Given the description of an element on the screen output the (x, y) to click on. 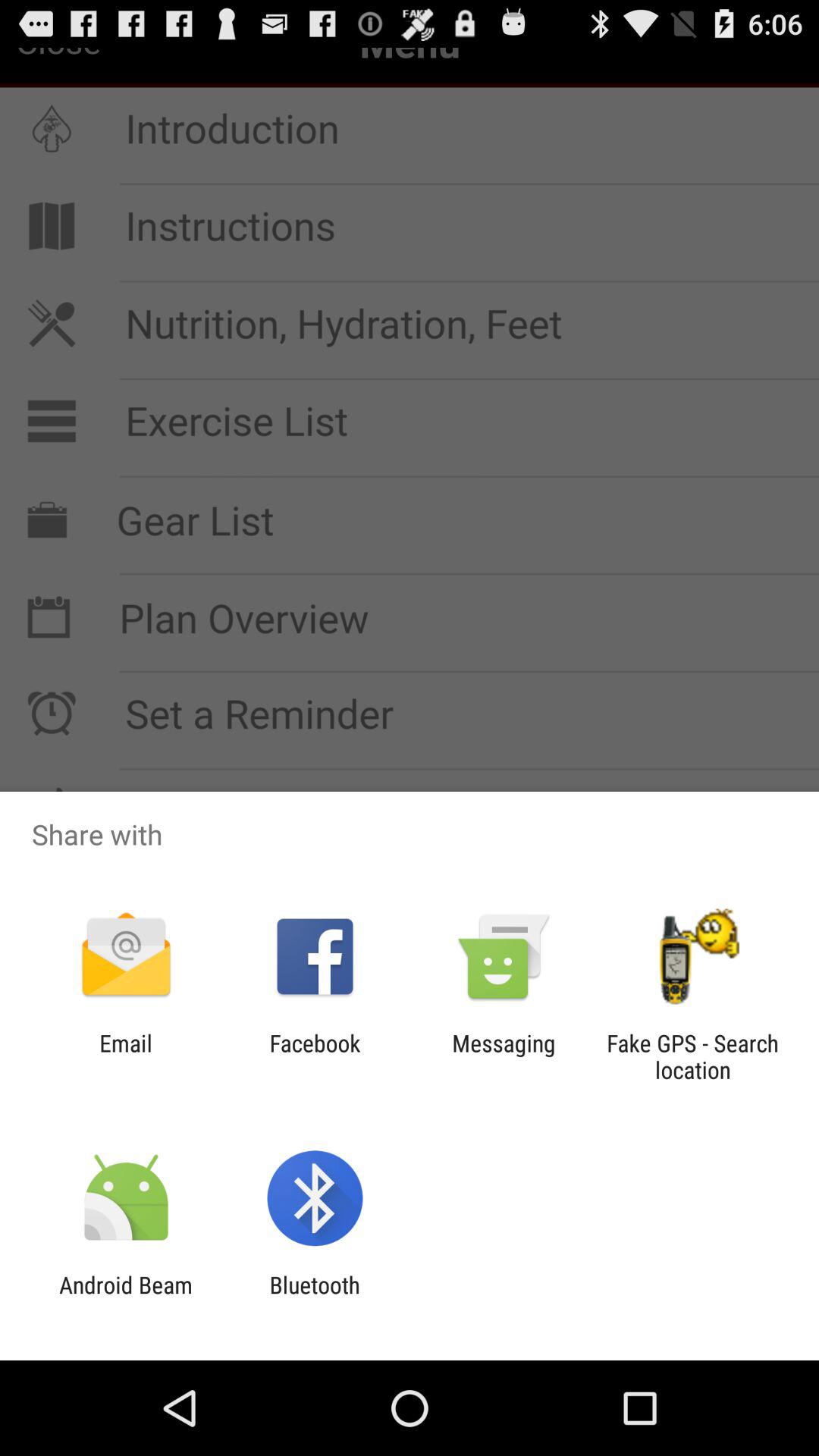
turn off the app next to android beam app (314, 1298)
